Given the description of an element on the screen output the (x, y) to click on. 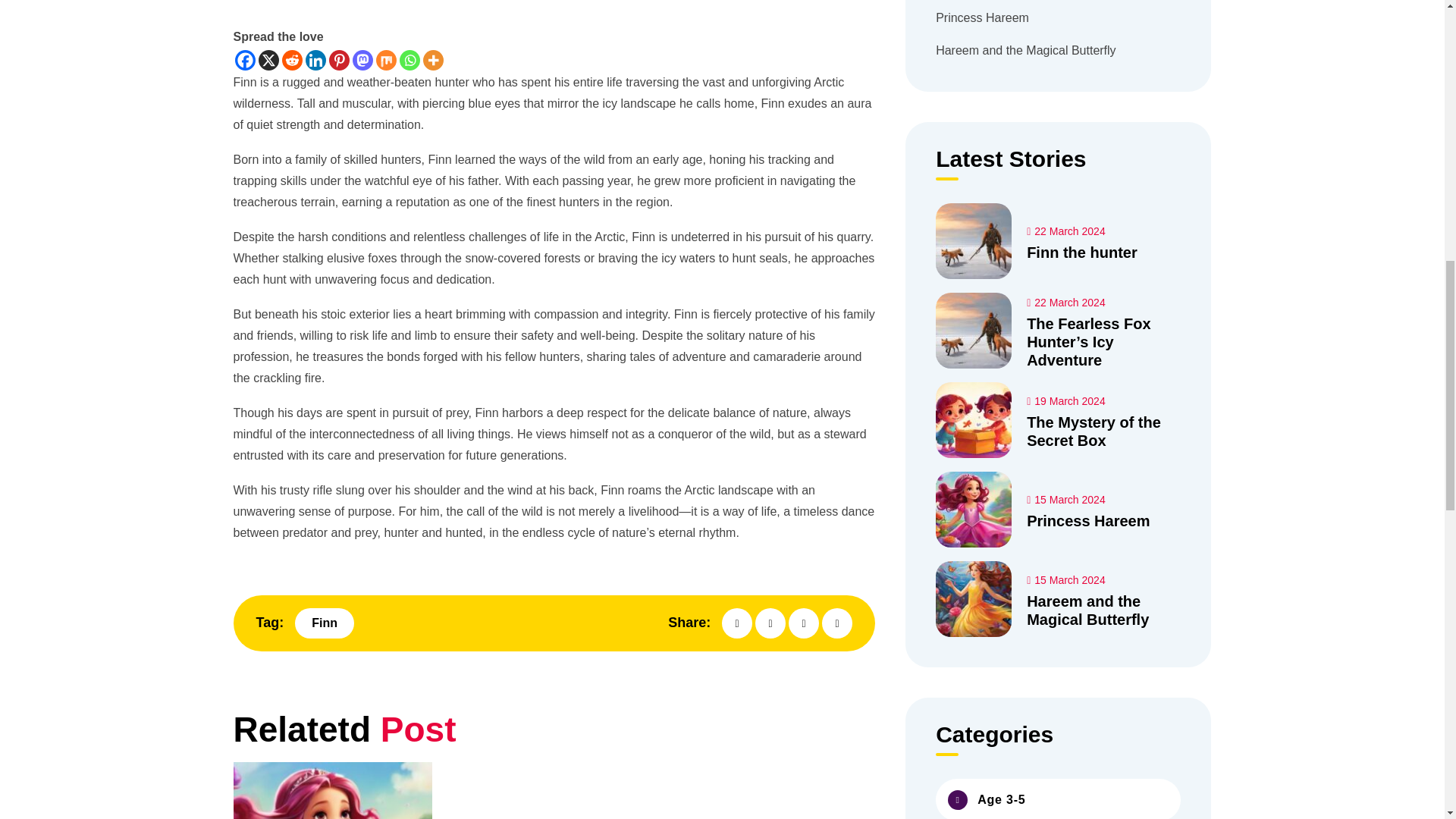
More (433, 59)
Finn (324, 623)
X (267, 59)
Pinterest (339, 59)
Facebook (245, 59)
Whatsapp (408, 59)
Mix (385, 59)
Linkedin (314, 59)
Reddit (292, 59)
Mastodon (362, 59)
